Given the description of an element on the screen output the (x, y) to click on. 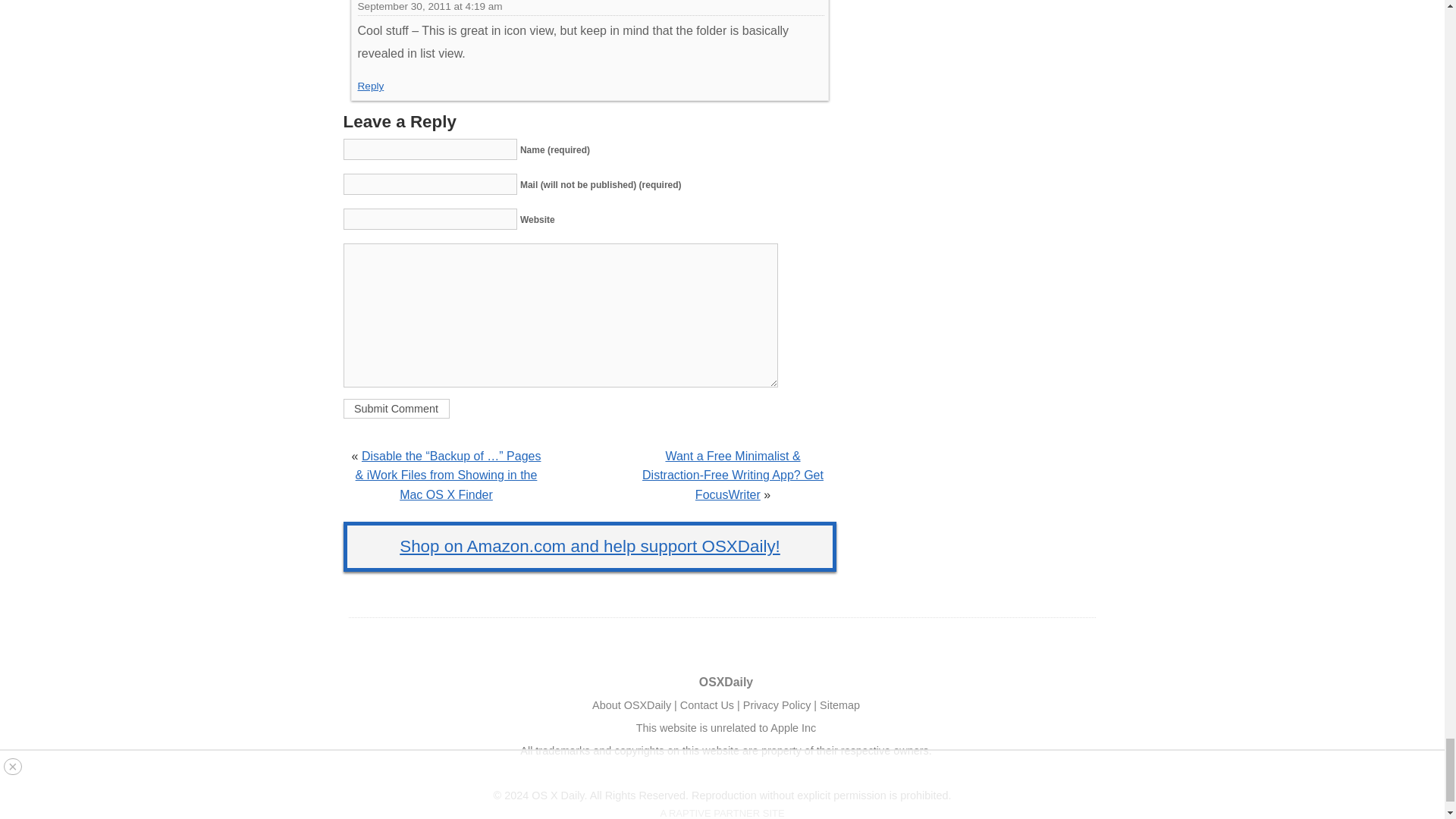
Submit Comment (395, 408)
